Given the description of an element on the screen output the (x, y) to click on. 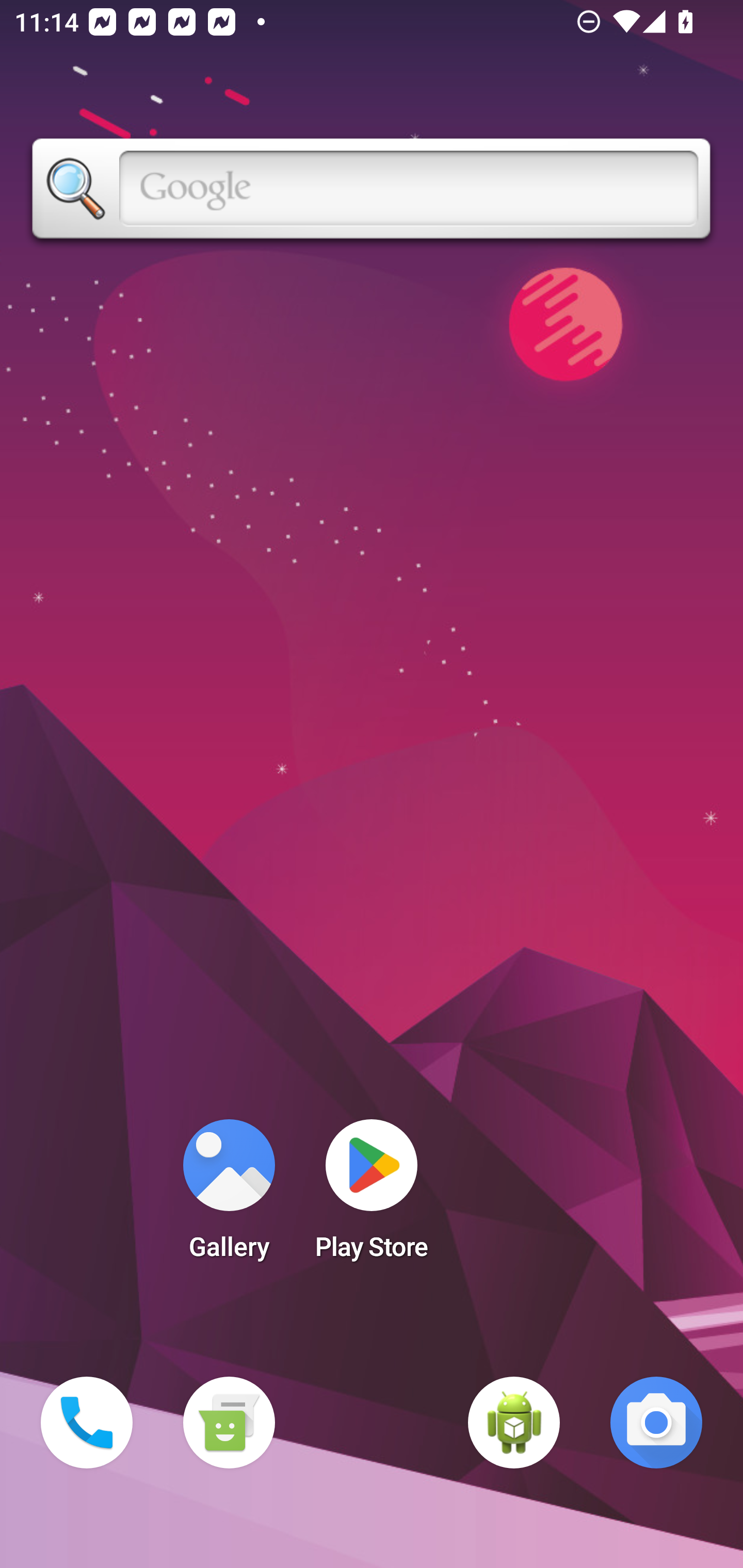
Gallery (228, 1195)
Play Store (371, 1195)
Phone (86, 1422)
Messaging (228, 1422)
WebView Browser Tester (513, 1422)
Camera (656, 1422)
